Given the description of an element on the screen output the (x, y) to click on. 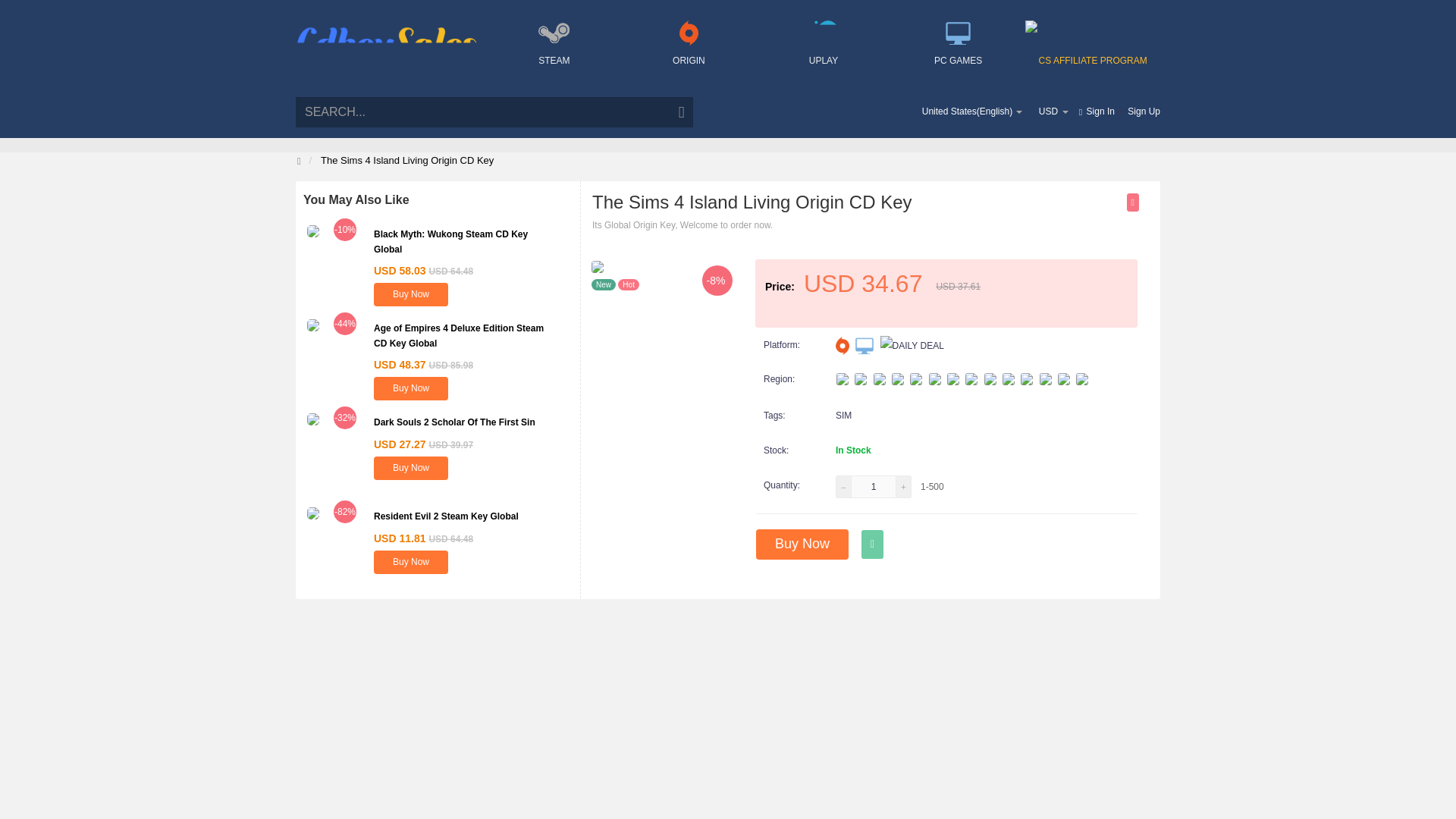
UPLAY (823, 48)
Add Shopping Cart (872, 543)
Resident Evil 2 Steam Key Global (446, 516)
Dark Souls 2 Scholar Of The First Sin (454, 421)
PC GAMES (958, 48)
Sign Up (1143, 111)
PC (864, 345)
ORIGIN (841, 345)
ORIGIN (689, 48)
1 (873, 486)
DAILY DEAL (911, 345)
Collection (1132, 202)
Sign In (1100, 111)
Black Myth: Wukong Steam CD Key Global (450, 241)
Age of Empires 4 Deluxe Edition Steam CD Key Global (458, 335)
